Given the description of an element on the screen output the (x, y) to click on. 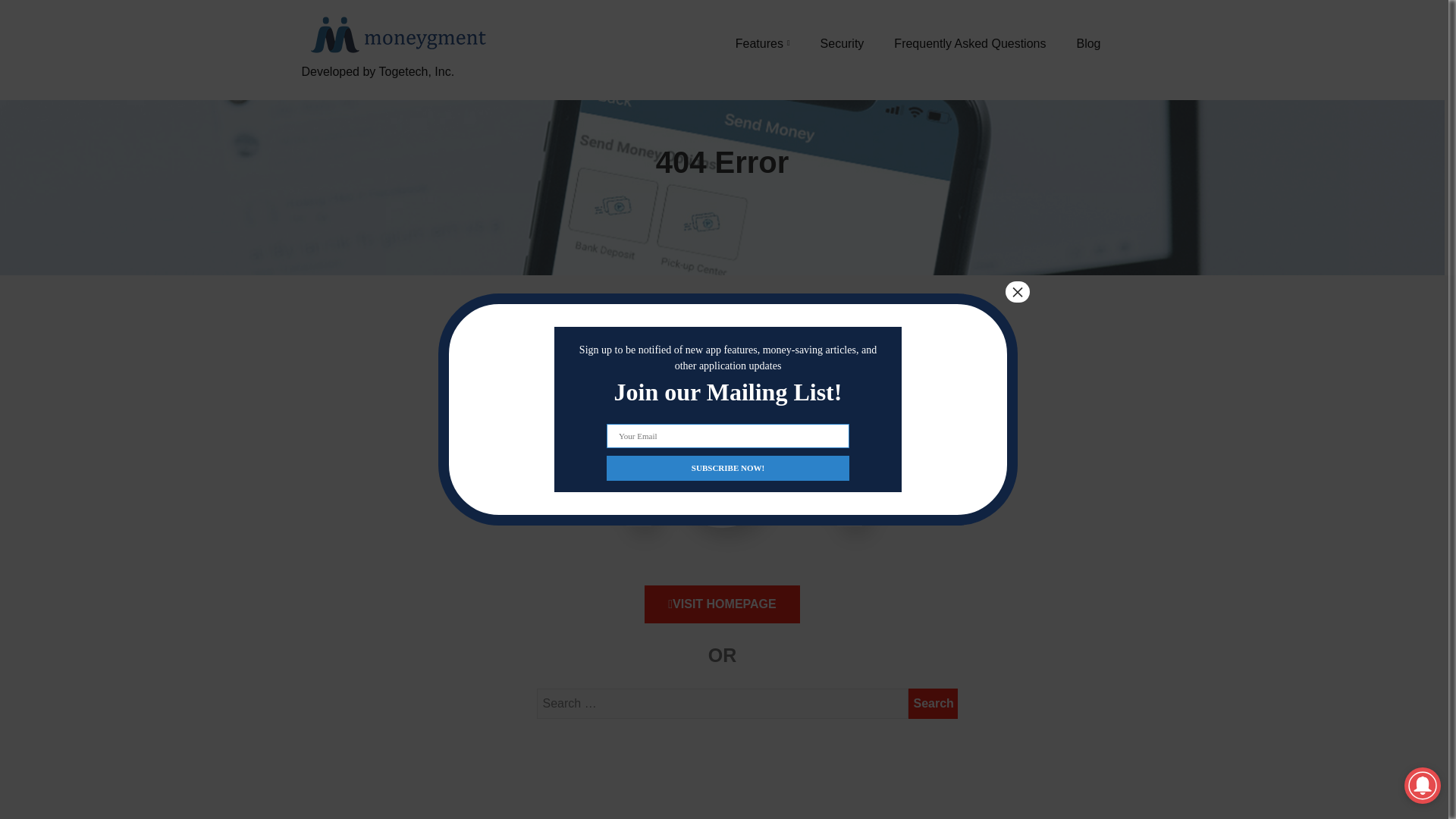
Security (842, 43)
Developed by Togetech, Inc. (396, 89)
SUBSCRIBE NOW! (727, 467)
VISIT HOMEPAGE (722, 604)
Search (933, 703)
Search (933, 703)
SUBSCRIBE NOW! (727, 467)
Search (933, 703)
Frequently Asked Questions (969, 43)
